Given the description of an element on the screen output the (x, y) to click on. 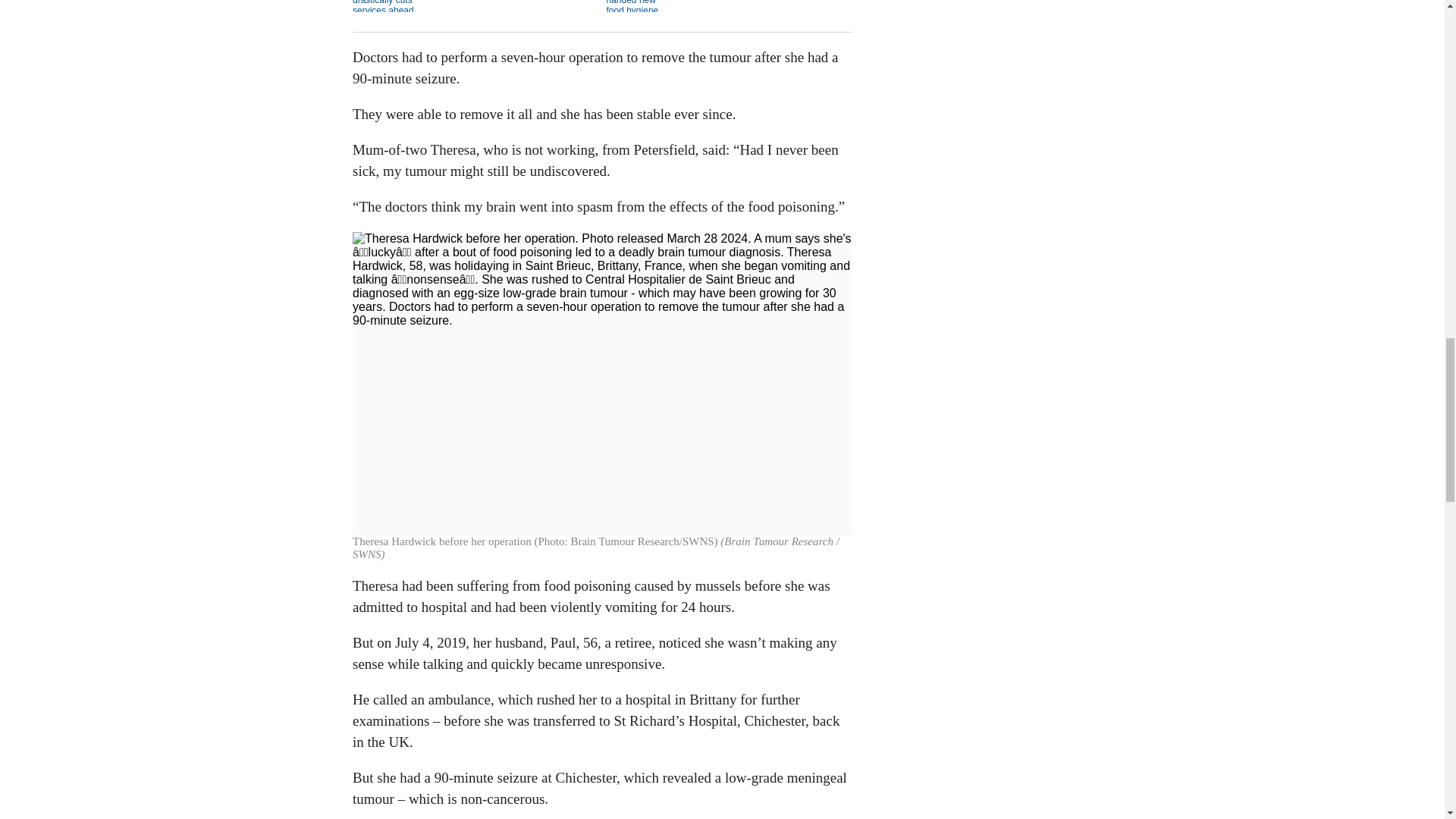
East Hampshire restaurant handed new food hygiene rating (727, 6)
